Given the description of an element on the screen output the (x, y) to click on. 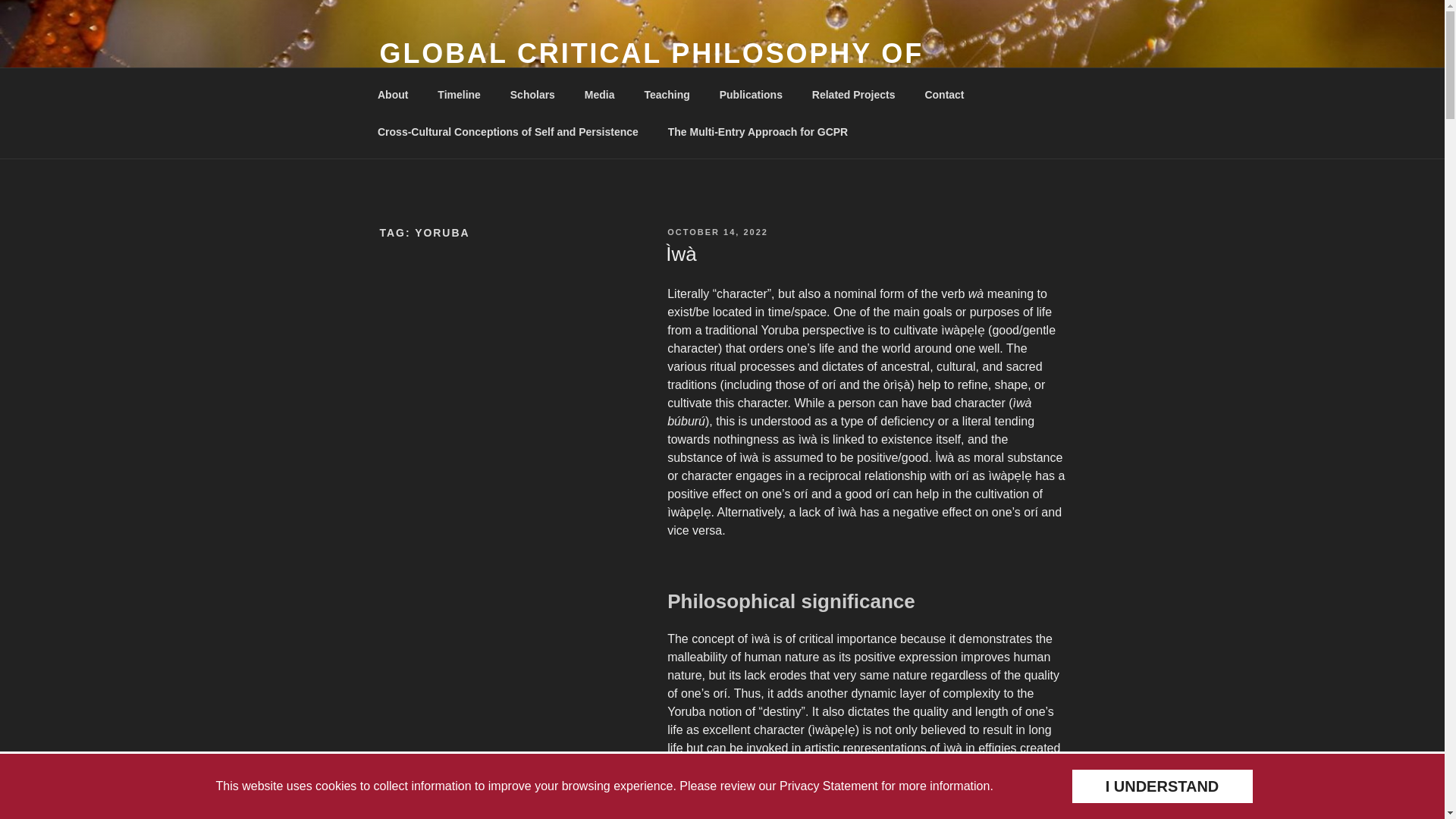
Cross-Cultural Conceptions of Self and Persistence (507, 131)
Privacy Statement (827, 785)
OCTOBER 14, 2022 (717, 231)
Related Projects (852, 94)
About (392, 94)
Media (598, 94)
Teaching (666, 94)
The Multi-Entry Approach for GCPR (756, 131)
Publications (750, 94)
Contact (943, 94)
Timeline (460, 94)
GLOBAL CRITICAL PHILOSOPHY OF RELIGION (650, 70)
Scholars (531, 94)
I UNDERSTAND (1161, 786)
